Given the description of an element on the screen output the (x, y) to click on. 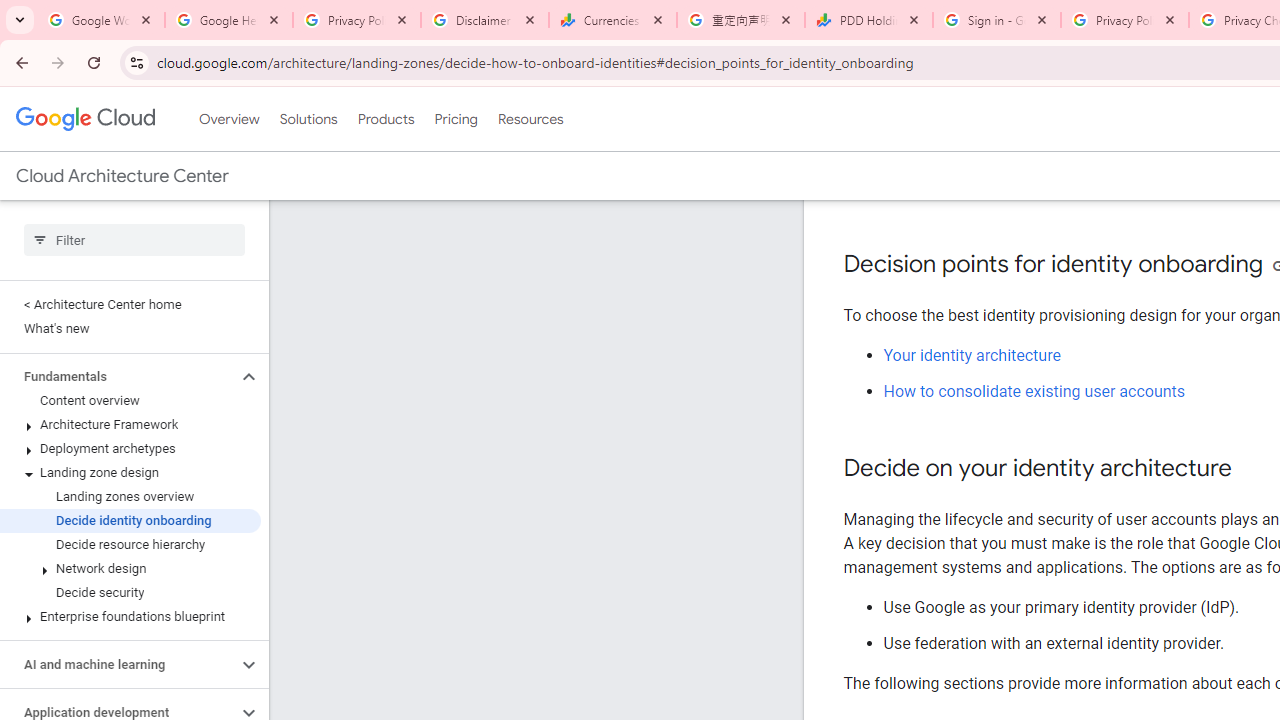
Content overview (130, 400)
Cloud Architecture Center (122, 175)
Landing zones overview (130, 497)
< Architecture Center home (130, 304)
Decide identity onboarding (130, 520)
Sign in - Google Accounts (997, 20)
Your identity architecture (972, 355)
AI and machine learning (118, 664)
Solutions (308, 119)
What's new (130, 328)
